Given the description of an element on the screen output the (x, y) to click on. 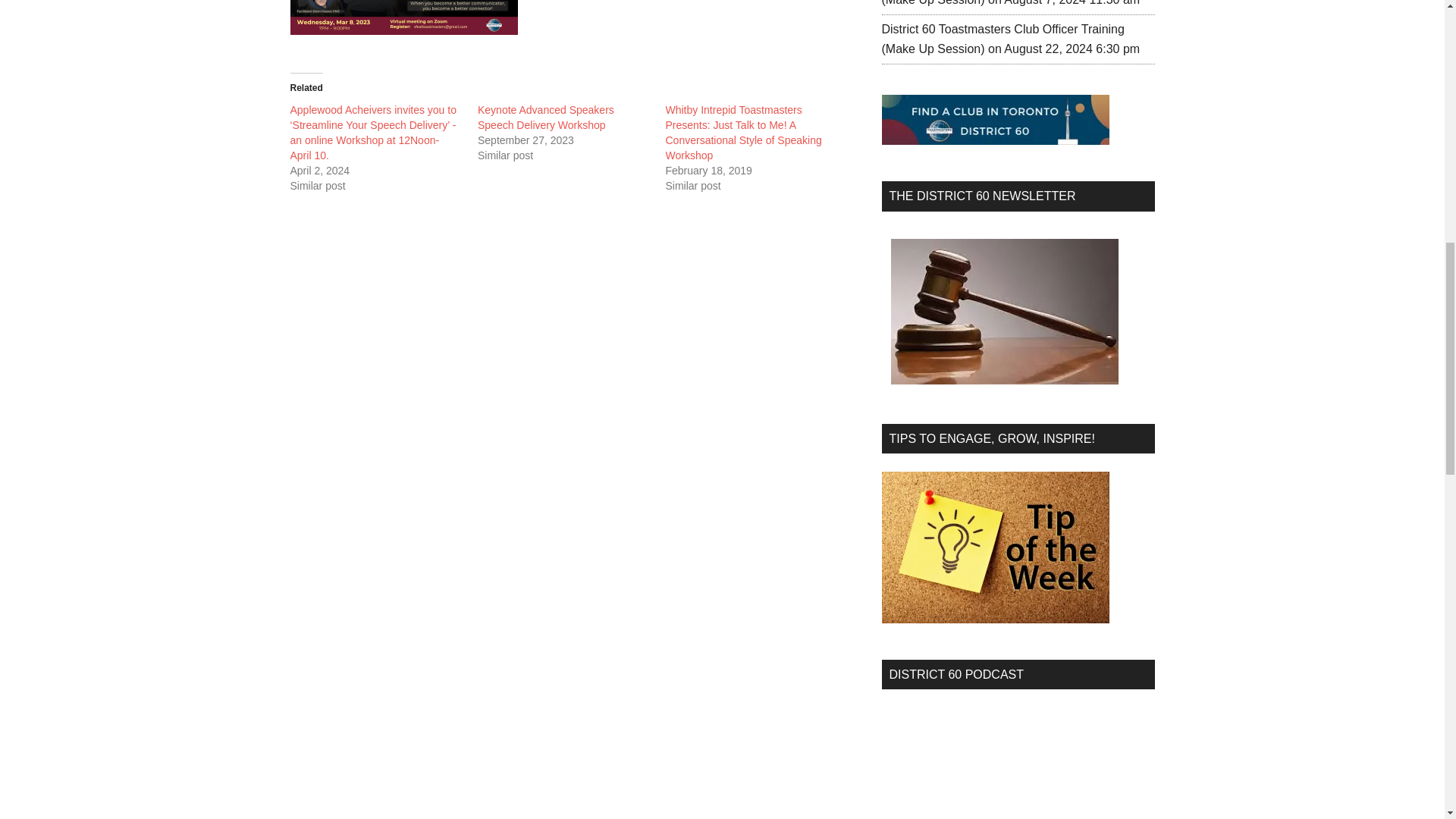
Keynote Advanced Speakers Speech Delivery Workshop (545, 117)
